Given the description of an element on the screen output the (x, y) to click on. 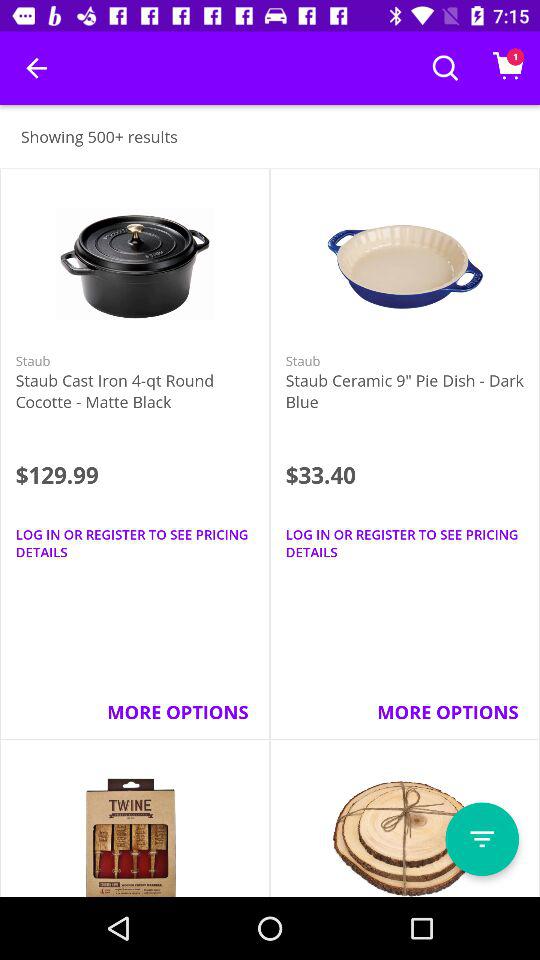
choose item above showing 500+ results icon (36, 68)
